Given the description of an element on the screen output the (x, y) to click on. 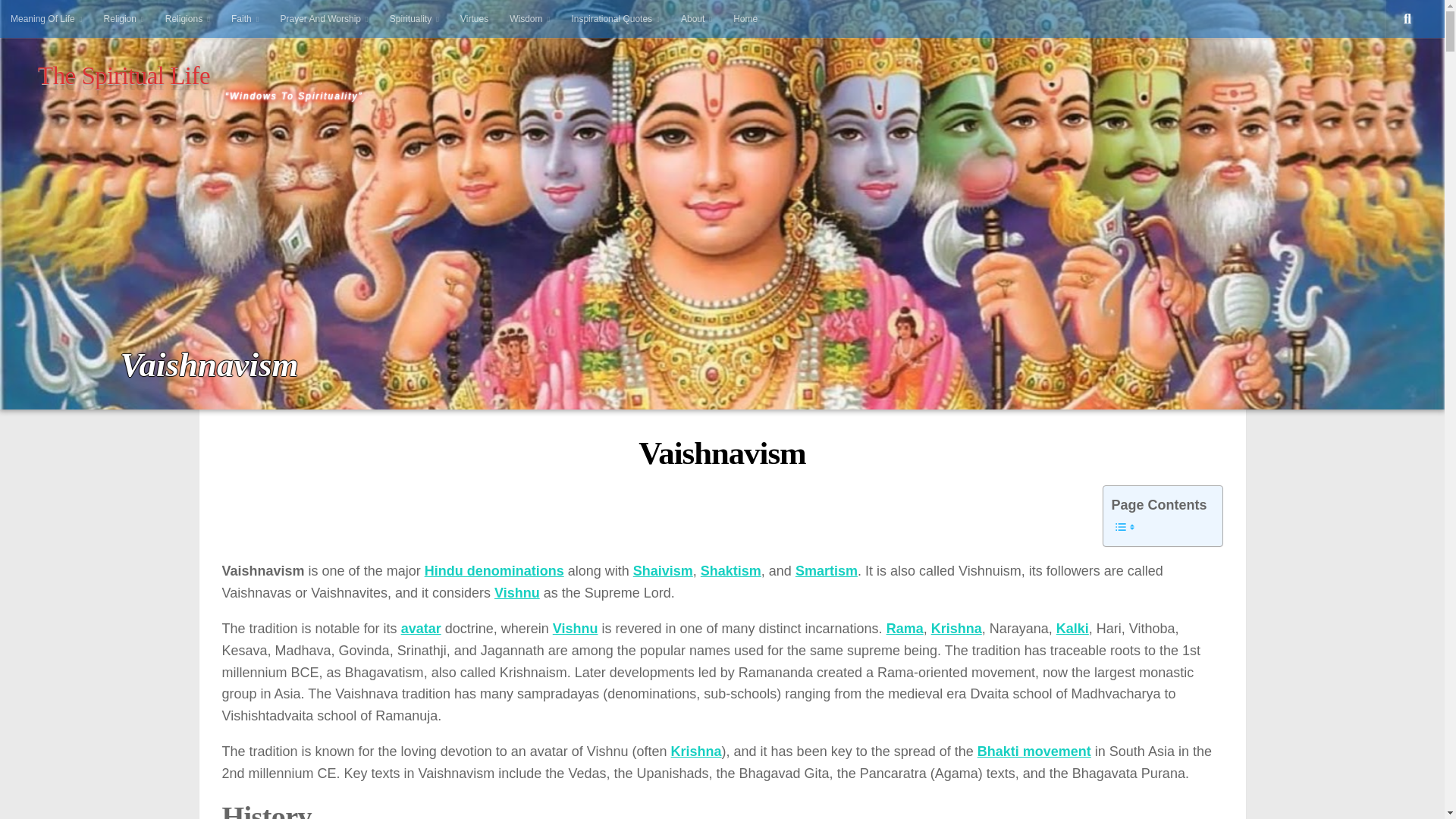
Skip to content (52, 19)
